Given the description of an element on the screen output the (x, y) to click on. 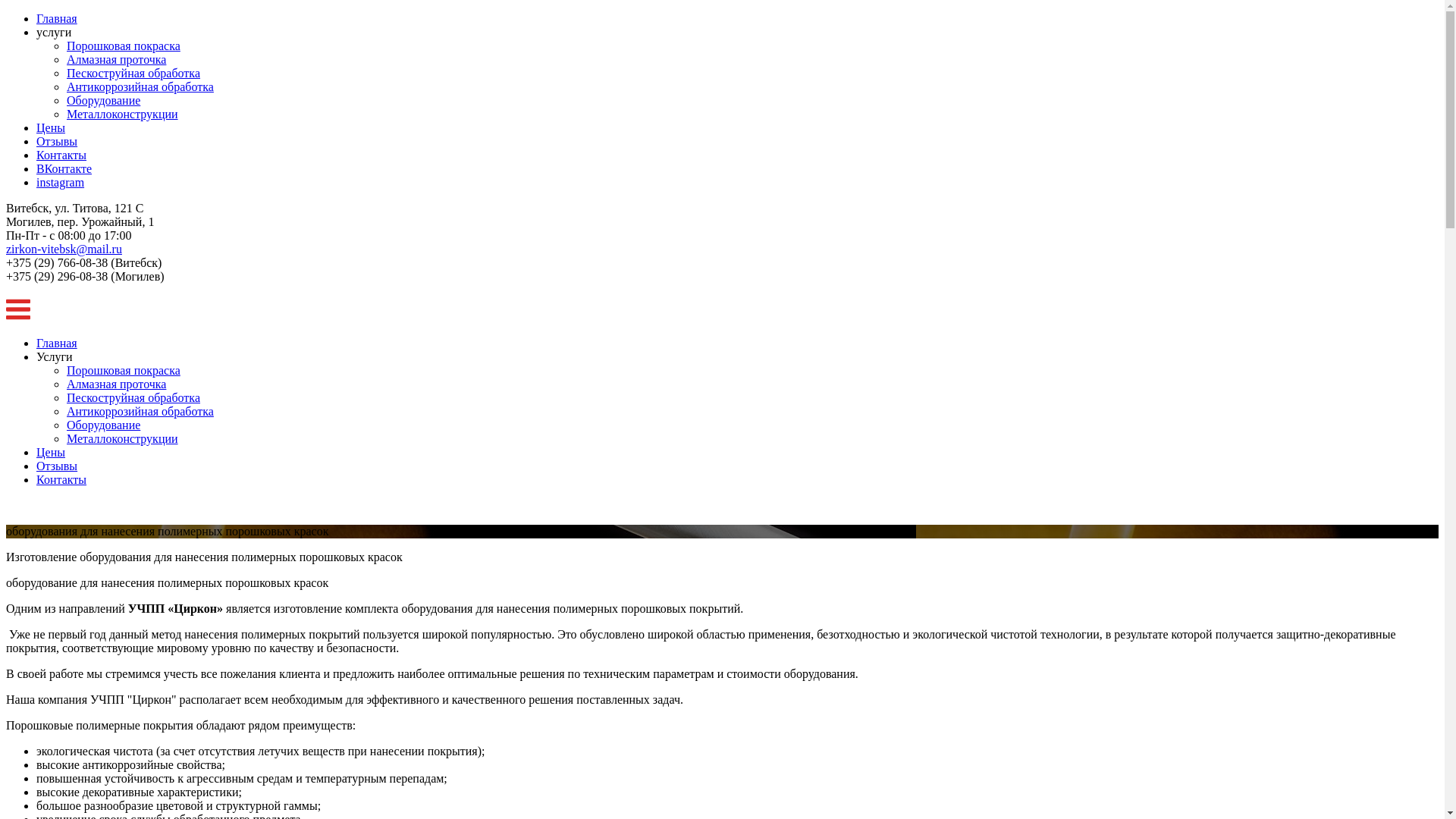
zirkon-vitebsk@mail.ru Element type: text (64, 248)
instagram Element type: text (60, 181)
